Given the description of an element on the screen output the (x, y) to click on. 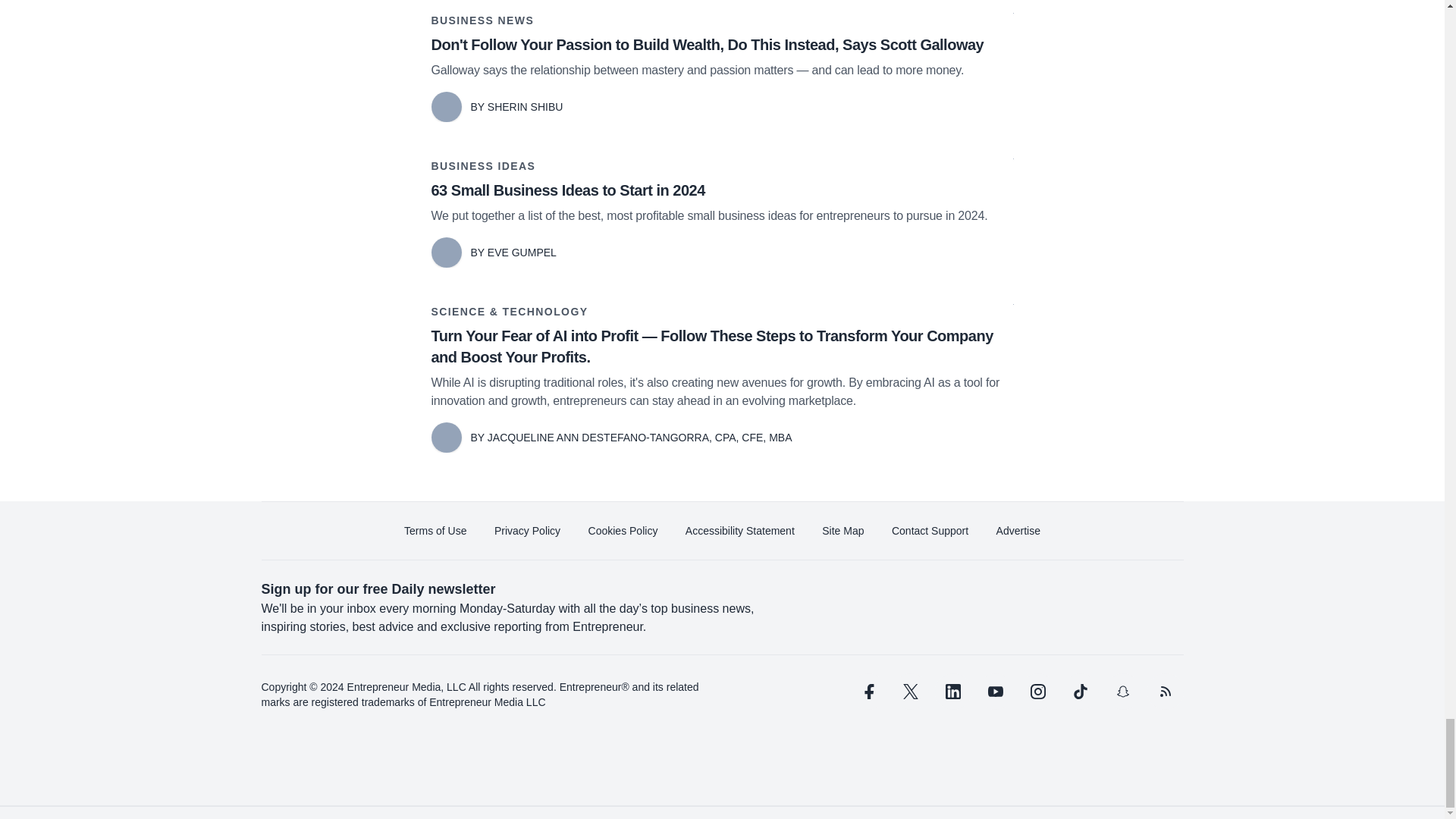
snapchat (1121, 691)
instagram (1037, 691)
youtube (994, 691)
linkedin (952, 691)
tiktok (1079, 691)
facebook (866, 691)
twitter (909, 691)
